Given the description of an element on the screen output the (x, y) to click on. 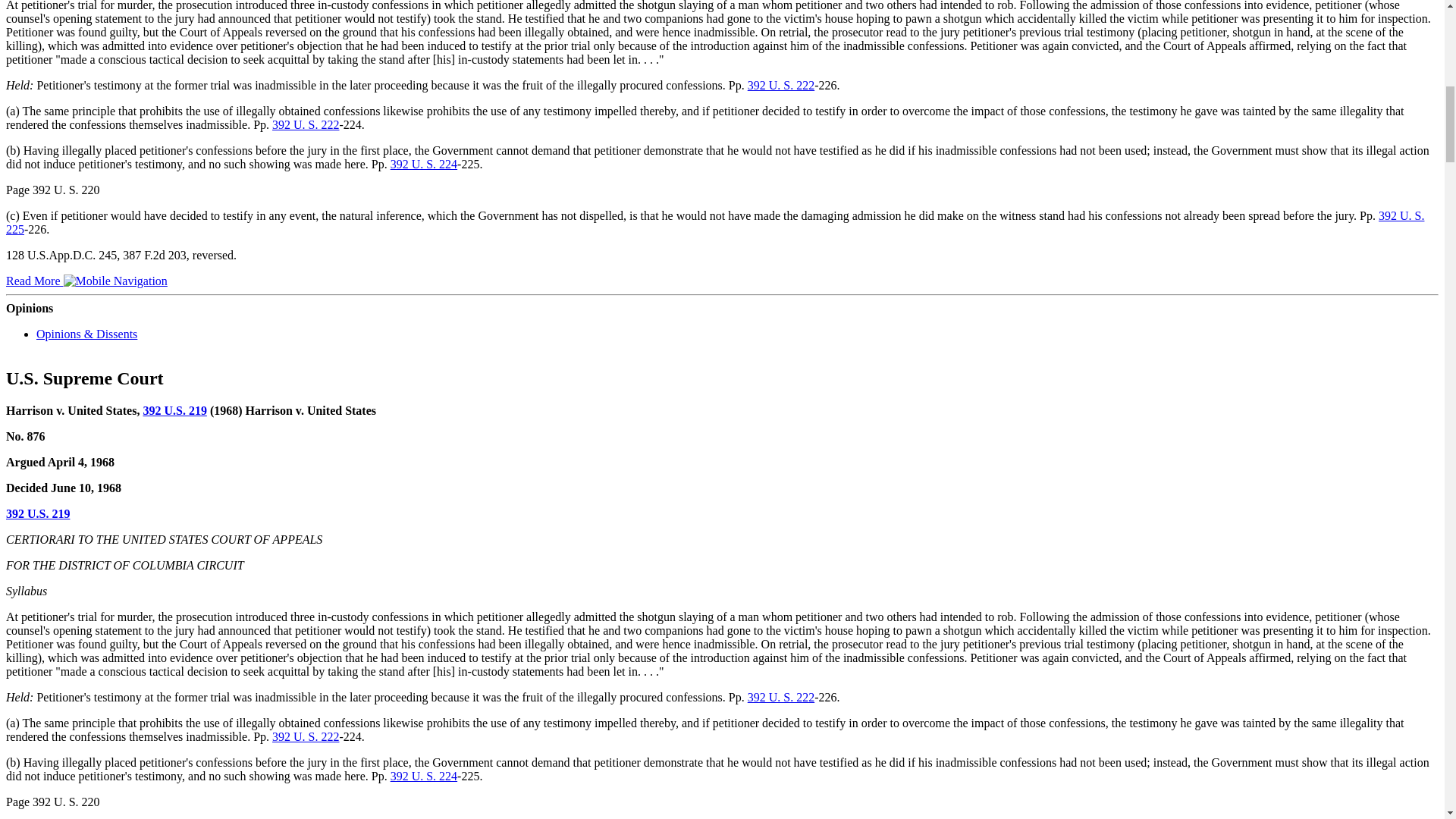
392 U. S. 224 (423, 164)
392 U. S. 222 (780, 84)
Mobile Navigation (115, 281)
392 U. S. 225 (714, 222)
392 U. S. 222 (305, 124)
Page 392 U. S. 220 (52, 189)
